Given the description of an element on the screen output the (x, y) to click on. 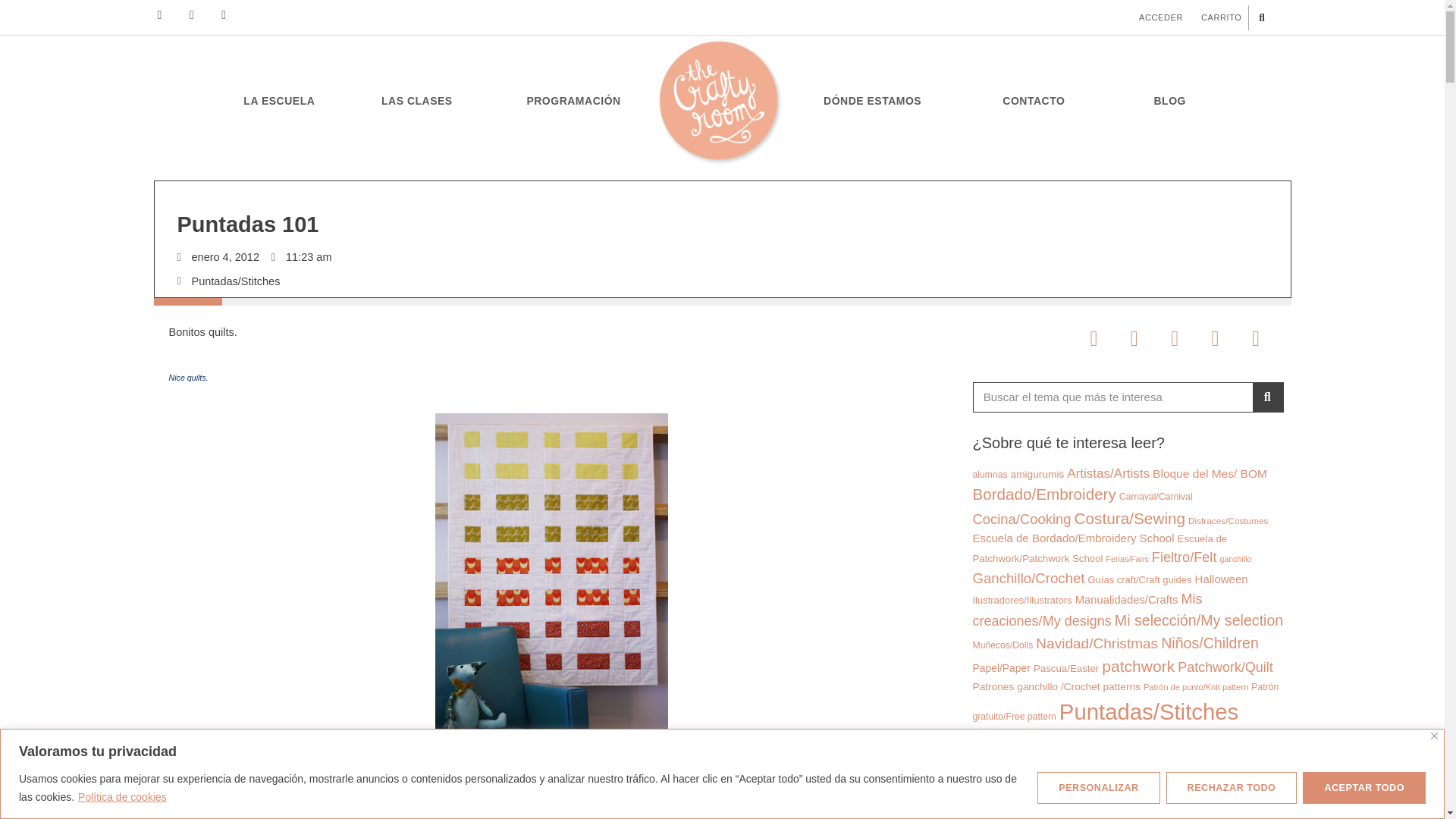
PERSONALIZAR (1097, 787)
ACCEDER (1160, 17)
LAS CLASES (420, 100)
ACEPTAR TODO (1364, 787)
CARRITO (1221, 17)
LA ESCUELA (278, 100)
RECHAZAR TODO (1231, 787)
